Given the description of an element on the screen output the (x, y) to click on. 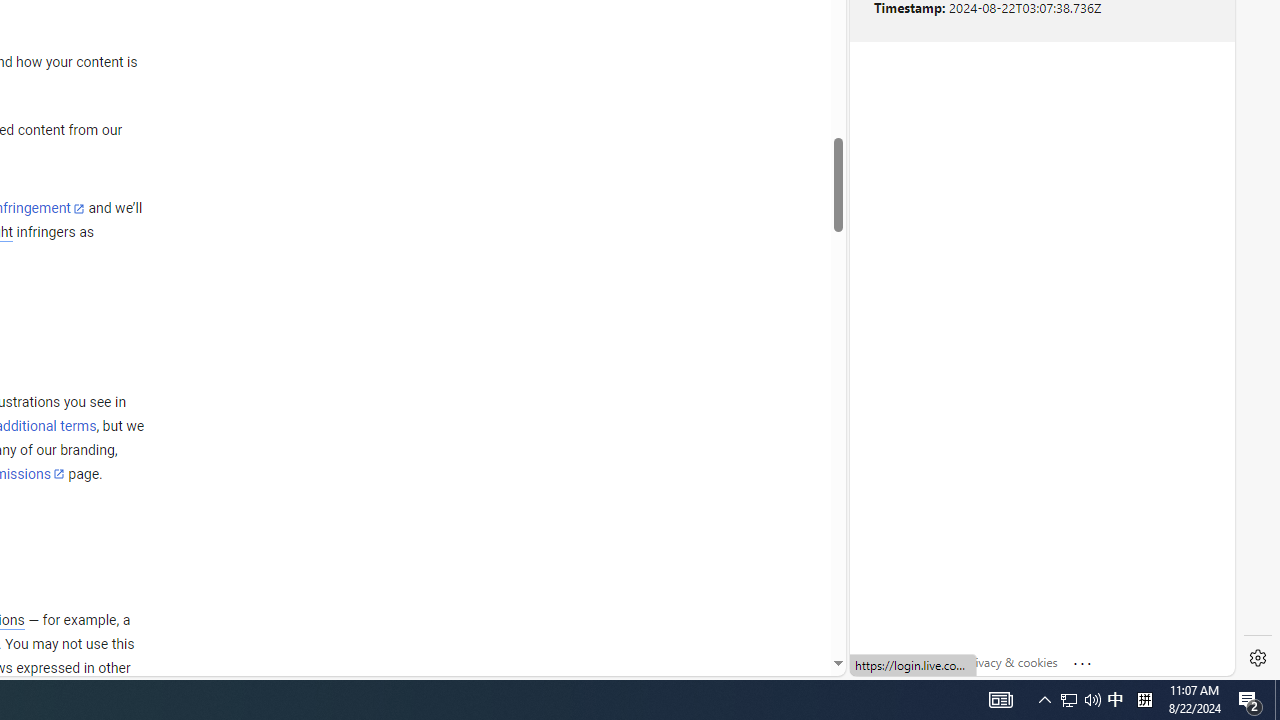
Terms of use (914, 662)
Privacy & cookies (1010, 662)
Click here for troubleshooting information (1083, 659)
